Given the description of an element on the screen output the (x, y) to click on. 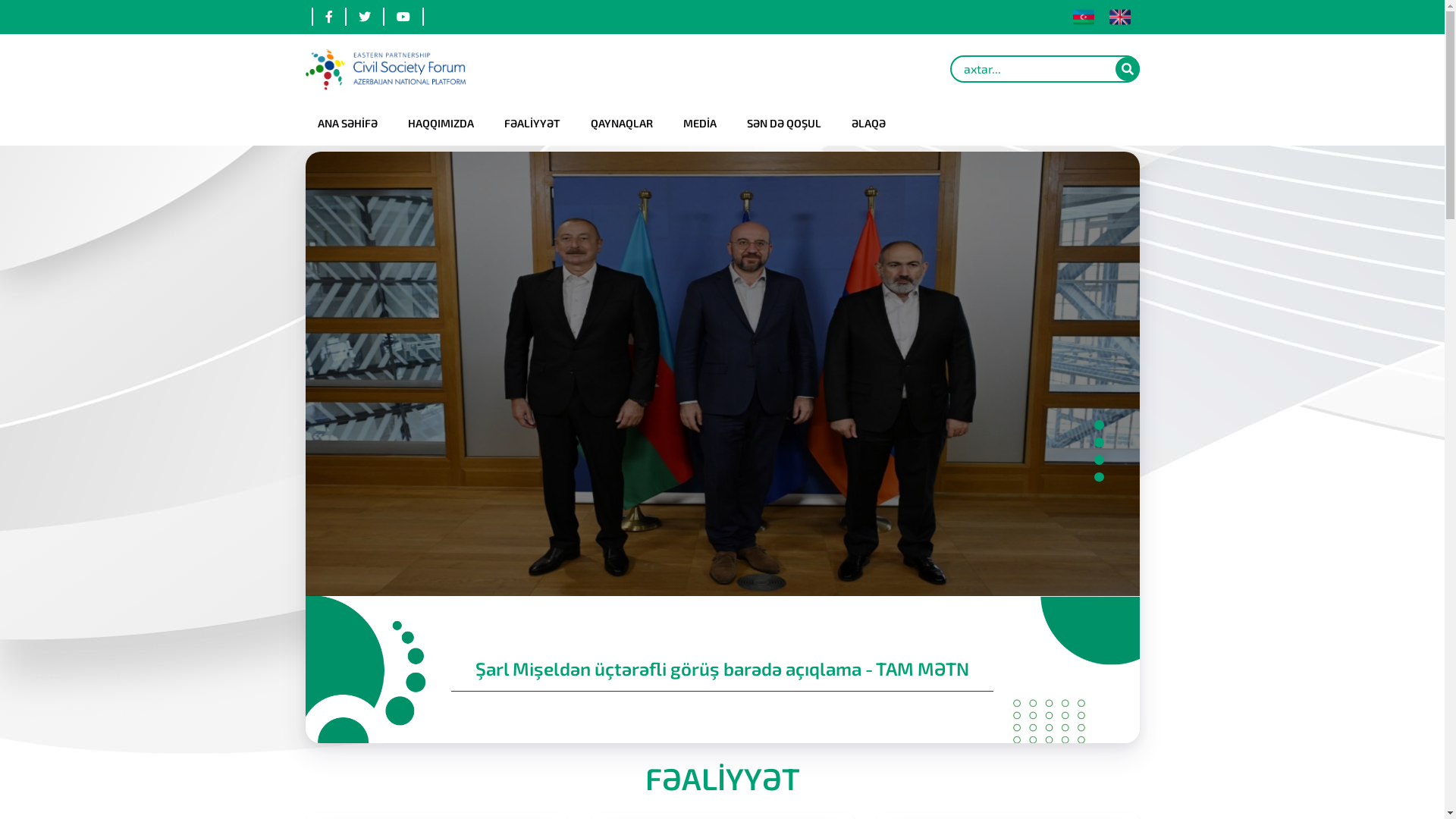
youtube Element type: hover (402, 16)
facebook Element type: hover (327, 16)
HAQQIMIZDA Element type: text (440, 124)
QAYNAQLAR Element type: text (620, 124)
# Element type: hover (626, 68)
twitter Element type: hover (363, 16)
MEDIA Element type: text (699, 124)
